Given the description of an element on the screen output the (x, y) to click on. 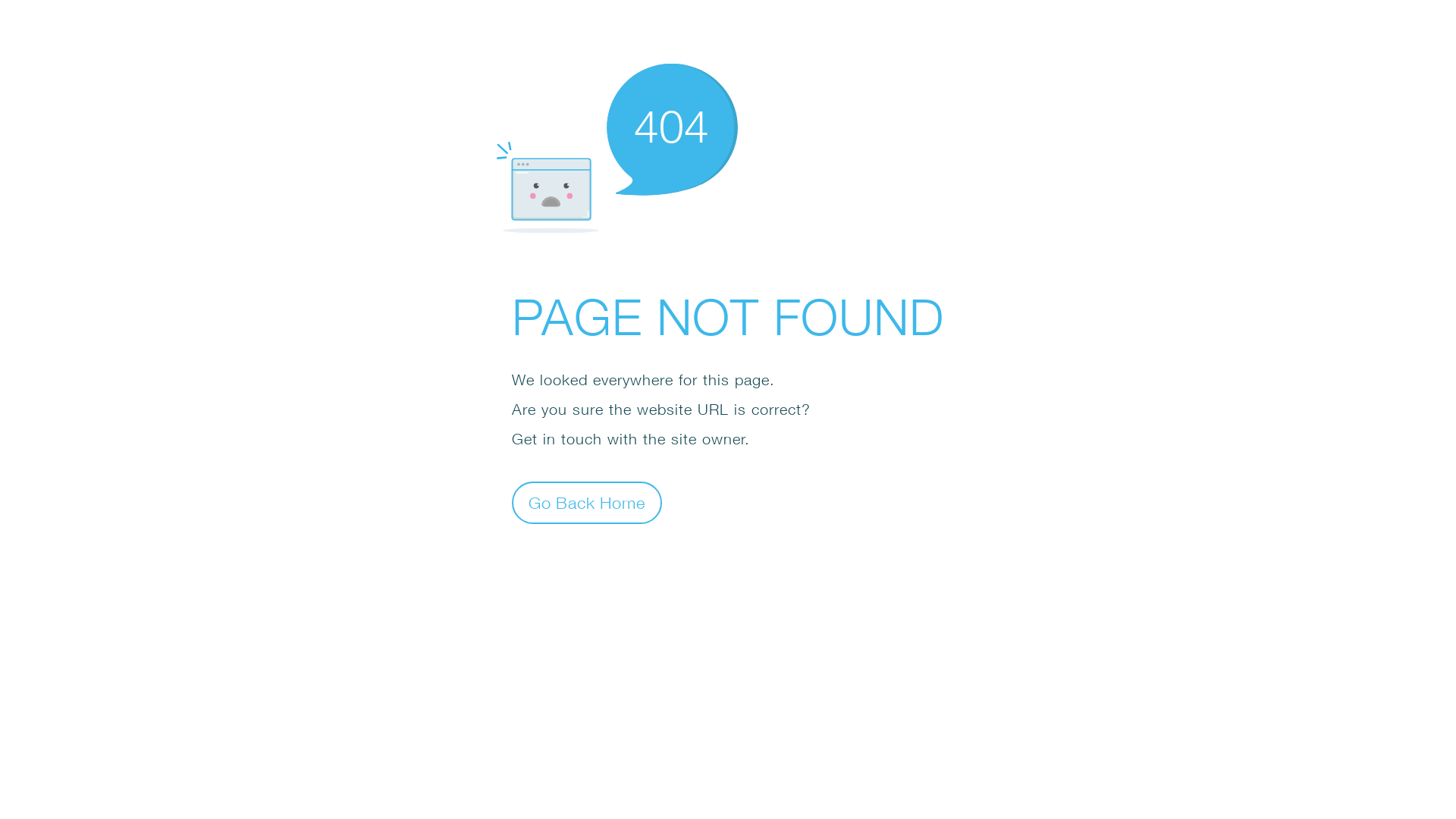
Go Back Home Element type: text (586, 502)
